Given the description of an element on the screen output the (x, y) to click on. 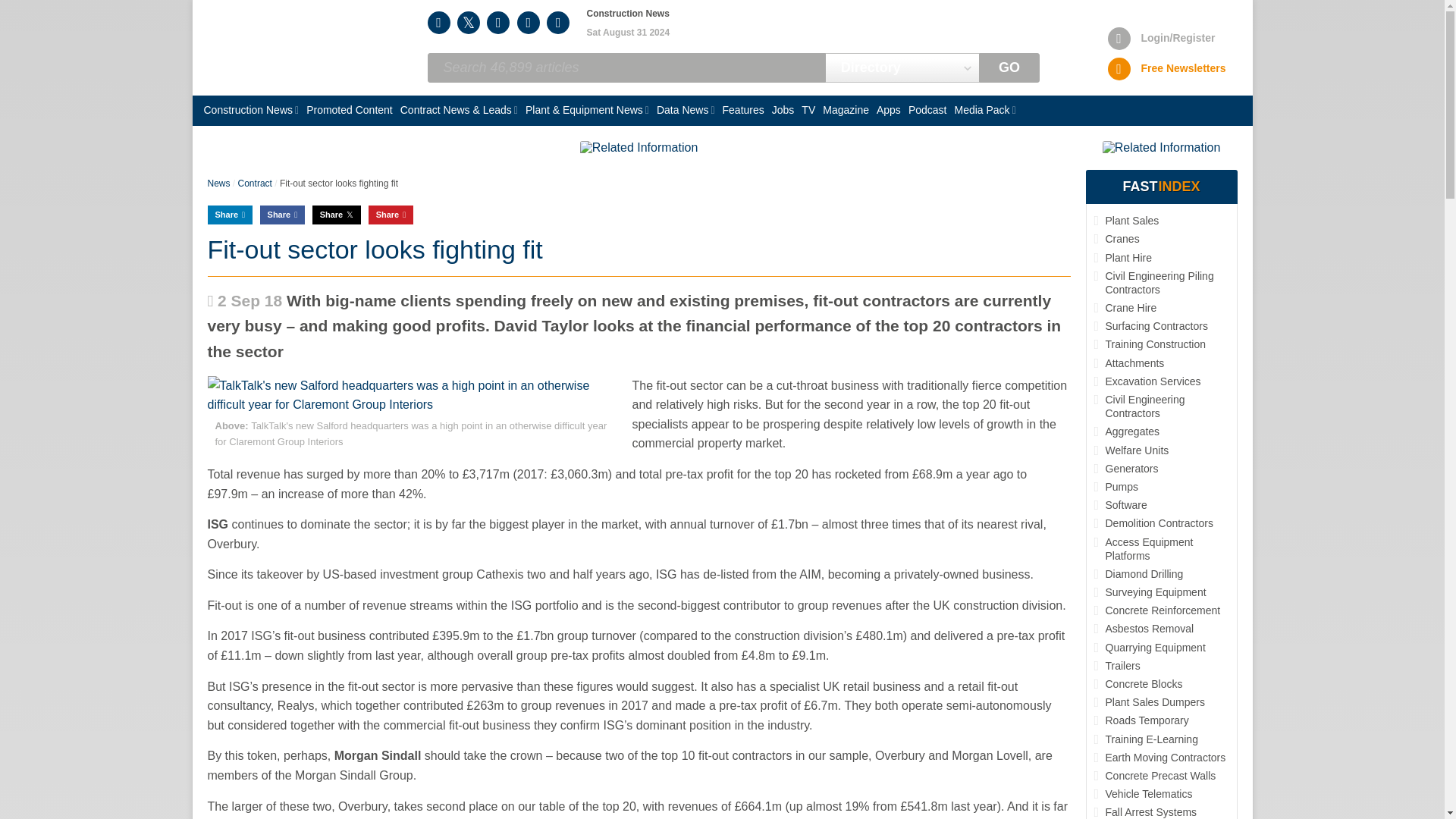
LinkedIn (497, 22)
Follow us on YouTube (528, 22)
GO (1009, 67)
Follow us on Facebook (558, 22)
YouTube (528, 22)
Follow us on LinkedIn (497, 22)
Facebook (558, 22)
Construction Index (290, 47)
Twitter (468, 22)
Instagram (438, 22)
